Given the description of an element on the screen output the (x, y) to click on. 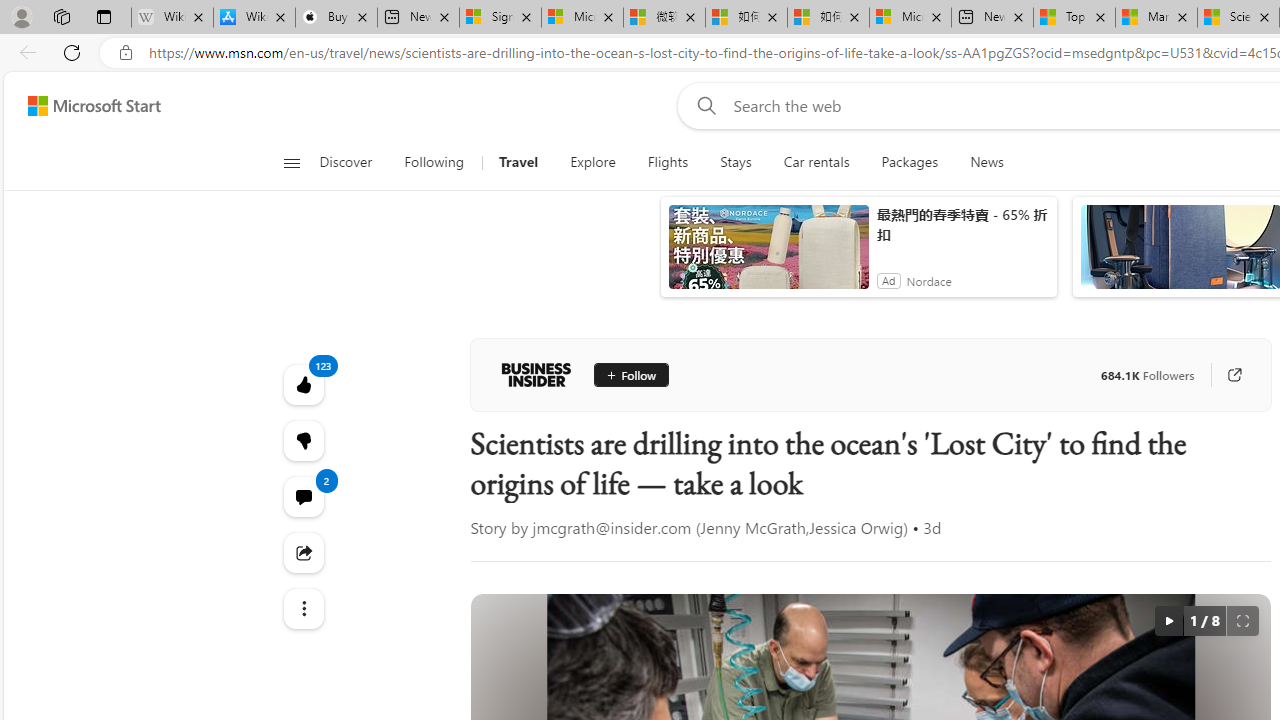
Travel (517, 162)
Stays (735, 162)
Wikipedia - Sleeping (171, 17)
Web search (702, 105)
Car rentals (816, 162)
Flights (667, 162)
Skip to content (86, 105)
Car rentals (816, 162)
Microsoft Services Agreement (582, 17)
